Given the description of an element on the screen output the (x, y) to click on. 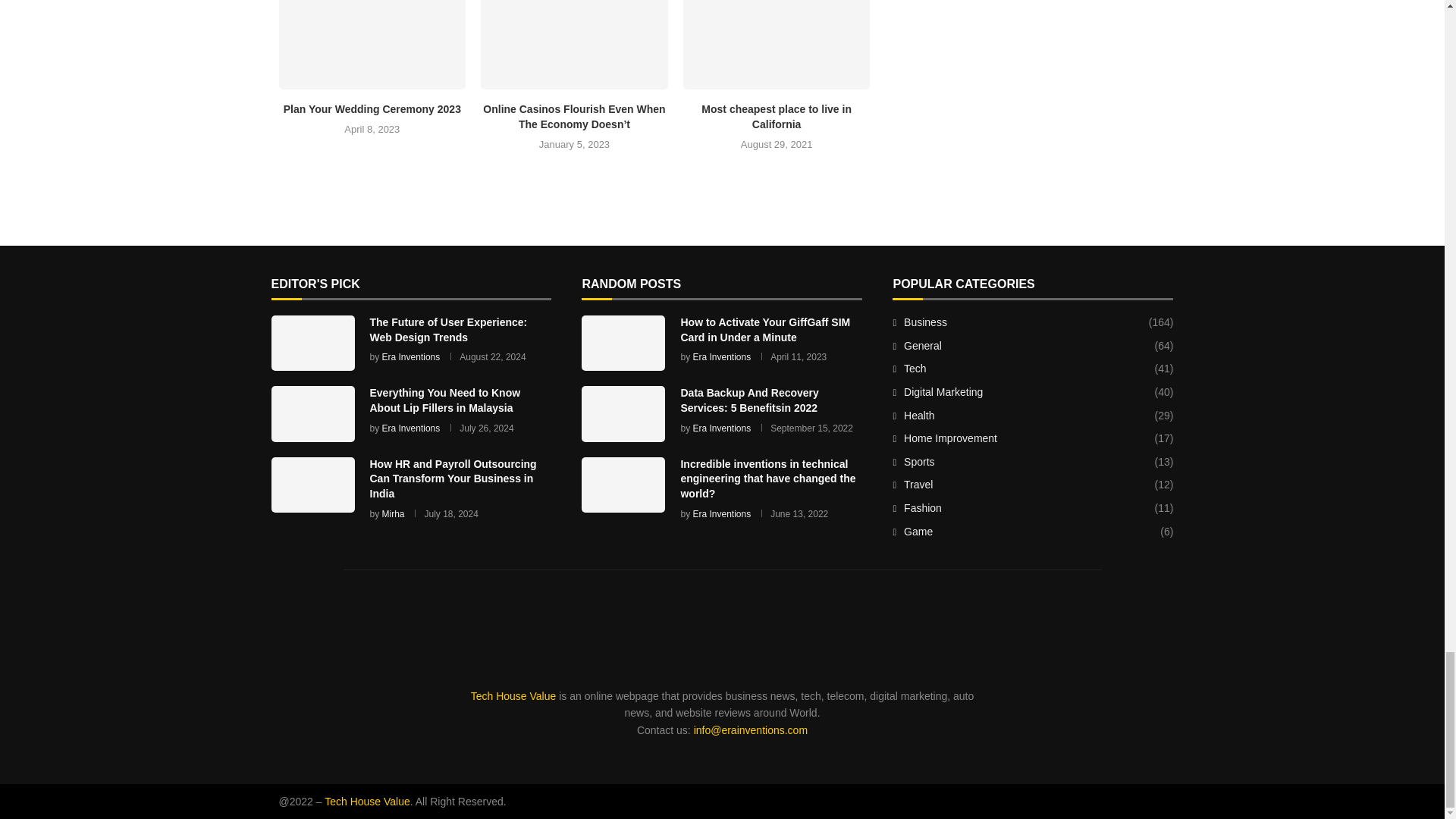
Most cheapest place to live in California (776, 44)
Most cheapest place to live in California (776, 116)
Plan Your Wedding Ceremony 2023 (372, 44)
Plan Your Wedding Ceremony 2023 (372, 109)
